Given the description of an element on the screen output the (x, y) to click on. 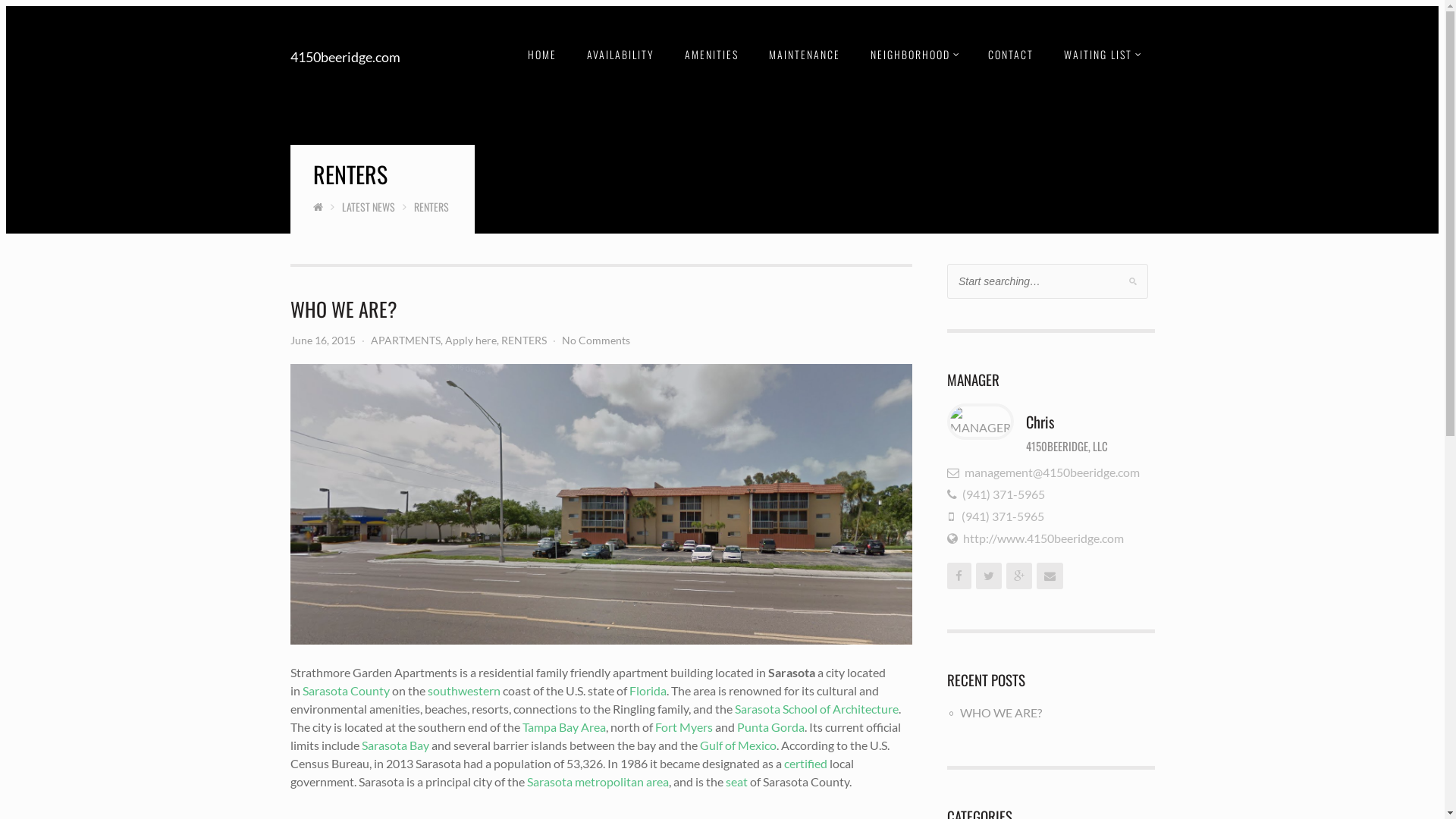
certified Element type: text (805, 763)
NEIGHBORHOOD Element type: text (913, 54)
Florida Element type: text (647, 690)
Gulf of Mexico Element type: text (737, 744)
WHO WE ARE? Element type: text (342, 308)
seat Element type: text (735, 781)
Fort Myers Element type: text (683, 726)
HOME Element type: text (541, 54)
No Comments Element type: text (595, 339)
Sarasota School of Architecture Element type: text (815, 708)
management@4150beeridge.com Element type: text (1043, 471)
WAITING LIST Element type: text (1101, 54)
Apply here Element type: text (469, 339)
Punta Gorda Element type: text (770, 726)
CONTACT Element type: text (1009, 54)
southwestern Element type: text (463, 690)
http://www.4150beeridge.com Element type: text (1035, 537)
Sarasota Bay Element type: text (394, 744)
AMENITIES Element type: text (710, 54)
APARTMENTS Element type: text (404, 339)
RENTERS Element type: text (523, 339)
WHO WE ARE? Element type: text (1000, 712)
Sarasota County Element type: text (345, 690)
AVAILABILITY Element type: text (620, 54)
MAINTENANCE Element type: text (804, 54)
LATEST NEWS Element type: text (367, 206)
4150beeridge.com Element type: text (344, 56)
Tampa Bay Area Element type: text (563, 726)
Sarasota metropolitan area Element type: text (597, 781)
Search Element type: text (25, 9)
